Given the description of an element on the screen output the (x, y) to click on. 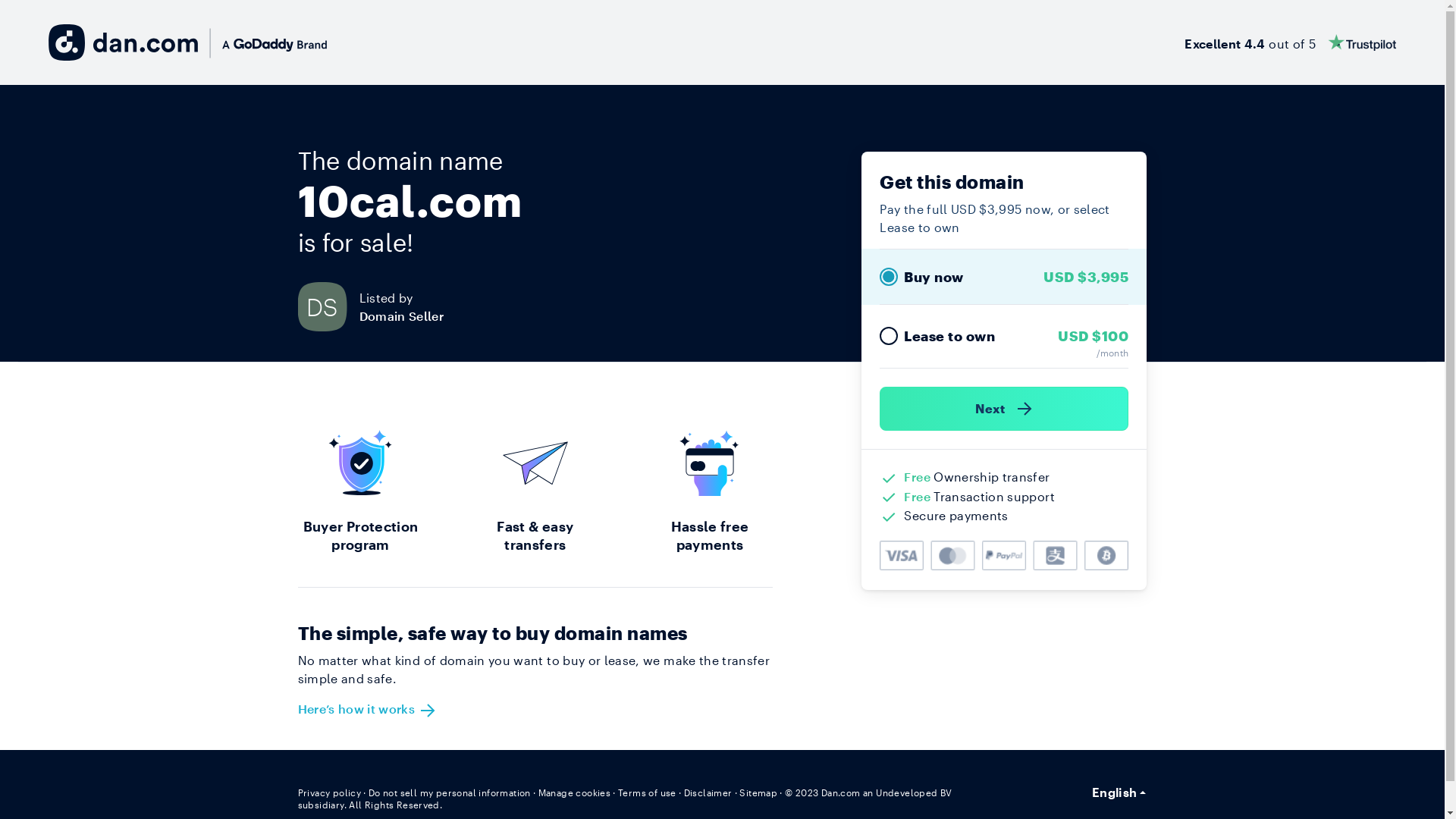
Manage cookies Element type: text (574, 792)
Next
) Element type: text (1003, 408)
Terms of use Element type: text (647, 792)
English Element type: text (1119, 792)
Disclaimer Element type: text (708, 792)
Sitemap Element type: text (758, 792)
Do not sell my personal information Element type: text (449, 792)
Excellent 4.4 out of 5 Element type: text (1290, 42)
Privacy policy Element type: text (328, 792)
